Given the description of an element on the screen output the (x, y) to click on. 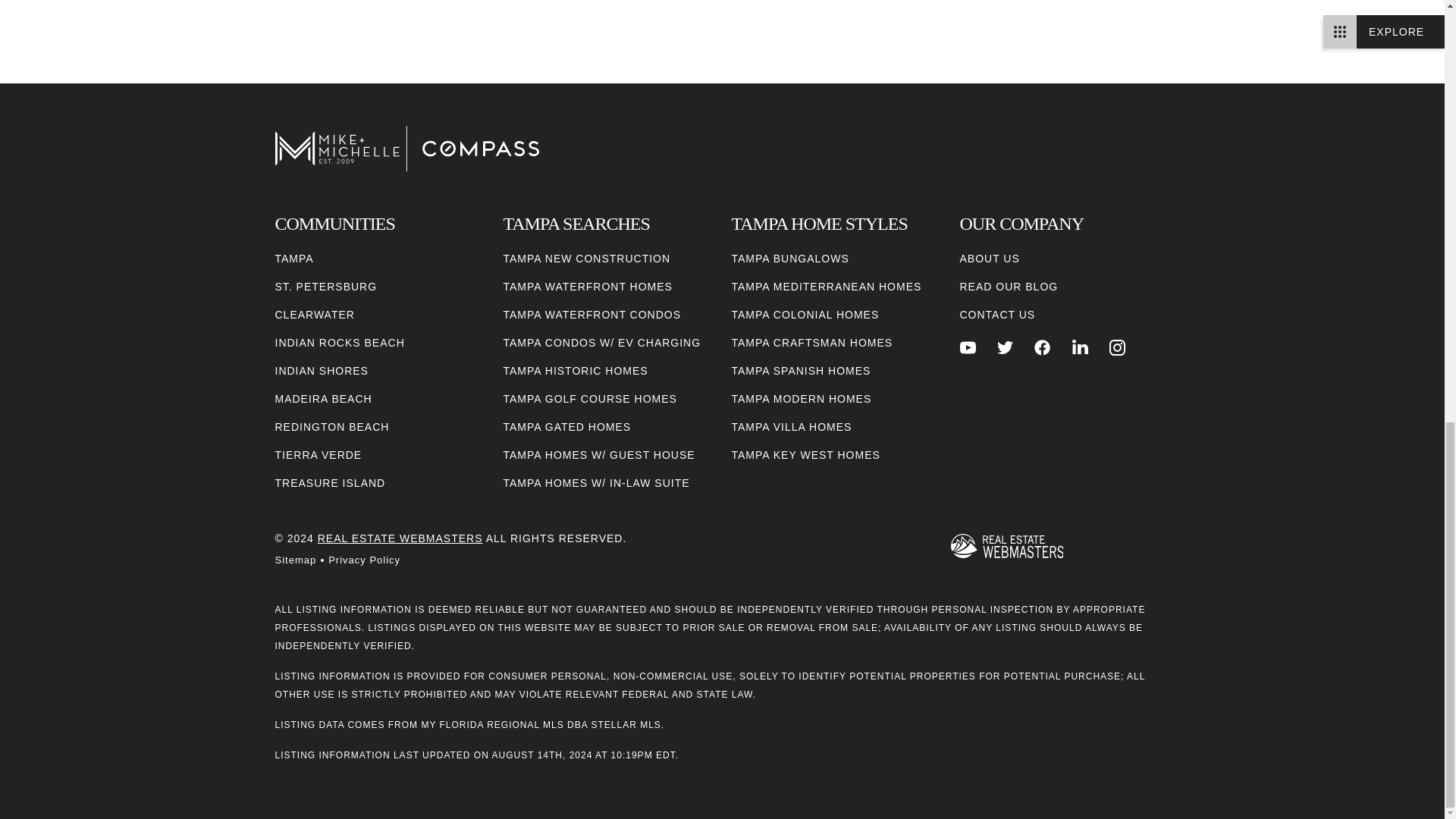
TWITTER (1005, 347)
LINKEDIN (1079, 347)
YOUTUBE (967, 347)
FACEBOOK (1041, 347)
